Given the description of an element on the screen output the (x, y) to click on. 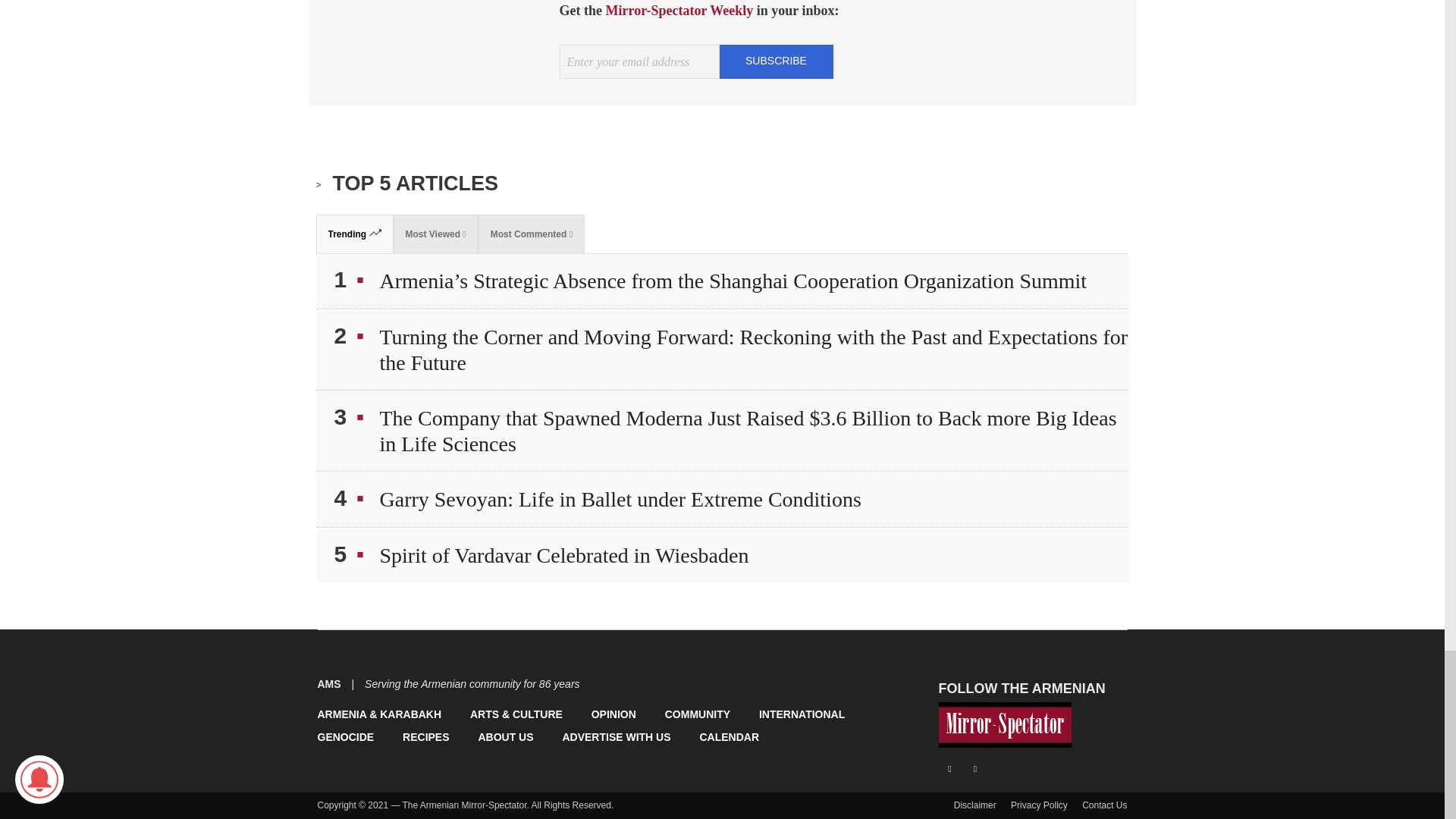
SUBSCRIBE (775, 60)
